Given the description of an element on the screen output the (x, y) to click on. 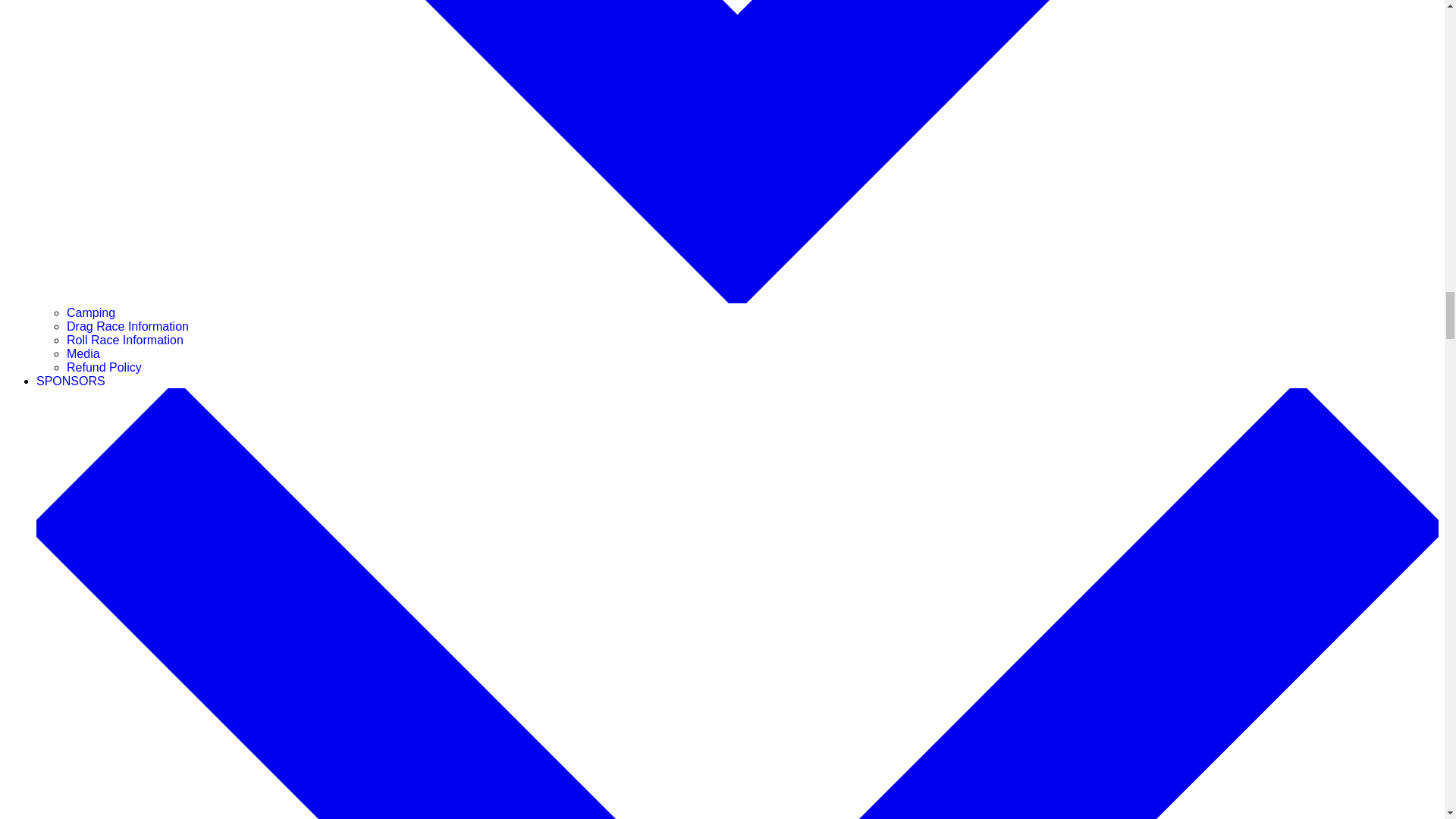
Drag Race Information (127, 326)
Refund Policy (103, 367)
Media (83, 353)
Roll Race Information (124, 339)
Camping (90, 312)
